Given the description of an element on the screen output the (x, y) to click on. 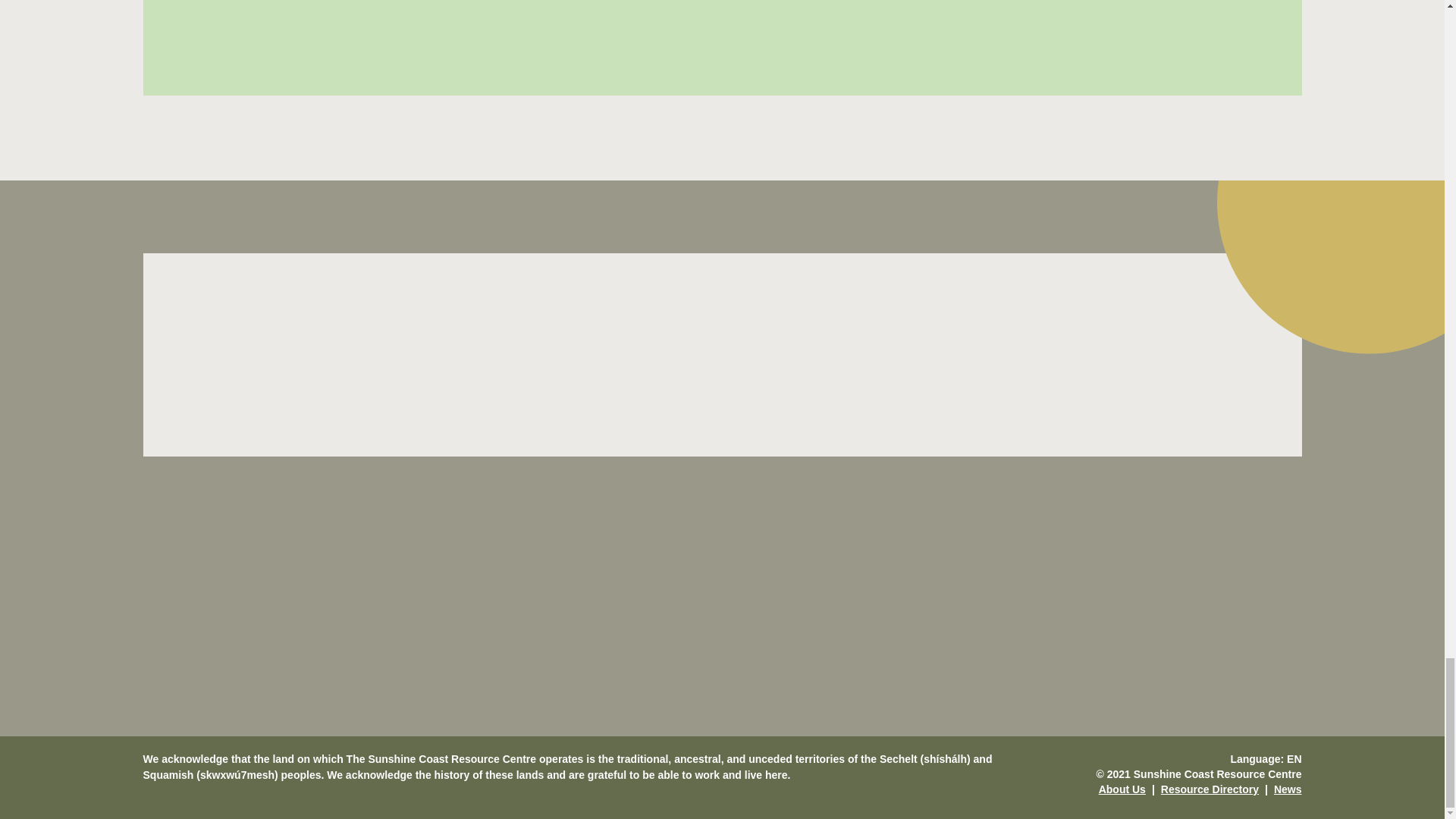
evf-submit (773, 20)
About Us (1122, 789)
evf-submit (1124, 354)
